Given the description of an element on the screen output the (x, y) to click on. 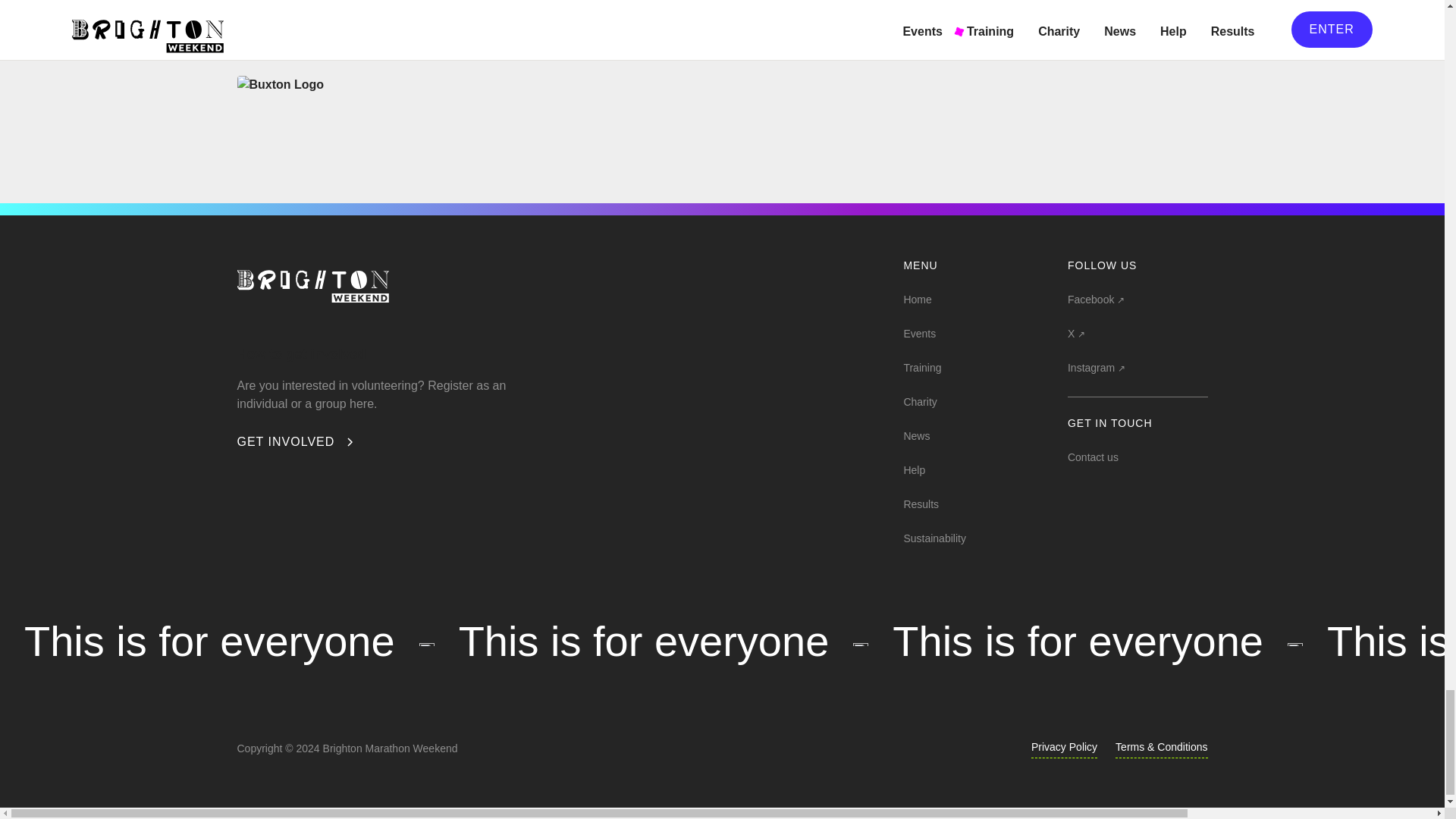
Home (916, 297)
Sustainability (934, 536)
Training (921, 365)
Help (913, 468)
GET INVOLVED (295, 442)
Events (919, 331)
Charity (919, 400)
Results (920, 502)
News (916, 434)
